Given the description of an element on the screen output the (x, y) to click on. 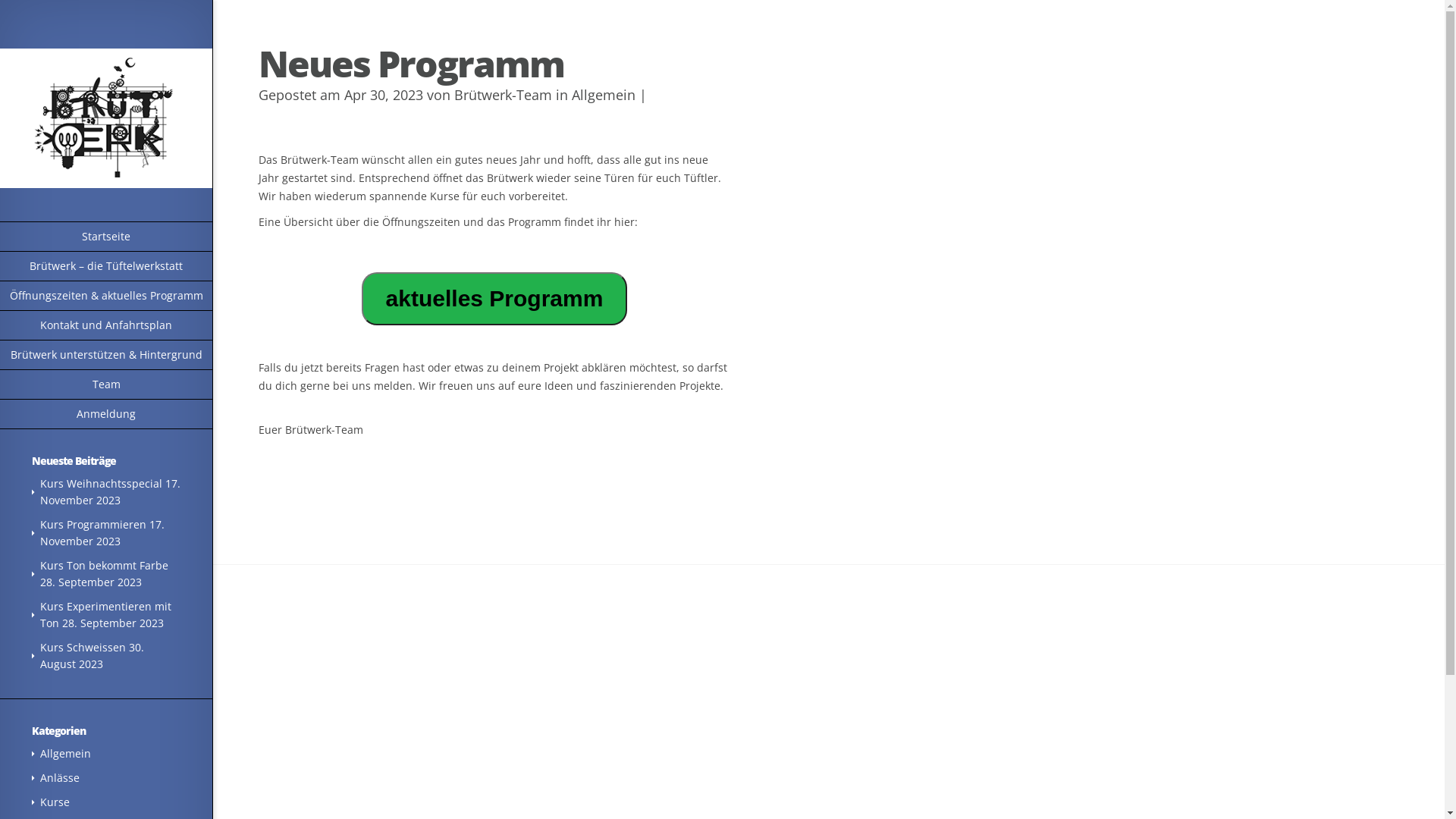
Kurs Weihnachtsspecial Element type: text (101, 483)
Kurs Ton bekommt Farbe Element type: text (104, 565)
Allgemein Element type: text (603, 94)
Startseite Element type: text (106, 236)
Kurs Schweissen Element type: text (82, 647)
Kontakt und Anfahrtsplan Element type: text (106, 325)
Anmeldung Element type: text (106, 414)
Kurse Element type: text (54, 801)
Allgemein Element type: text (65, 753)
Kurs Experimentieren mit Ton Element type: text (105, 614)
Kurs Programmieren Element type: text (93, 524)
Team Element type: text (106, 384)
